Given the description of an element on the screen output the (x, y) to click on. 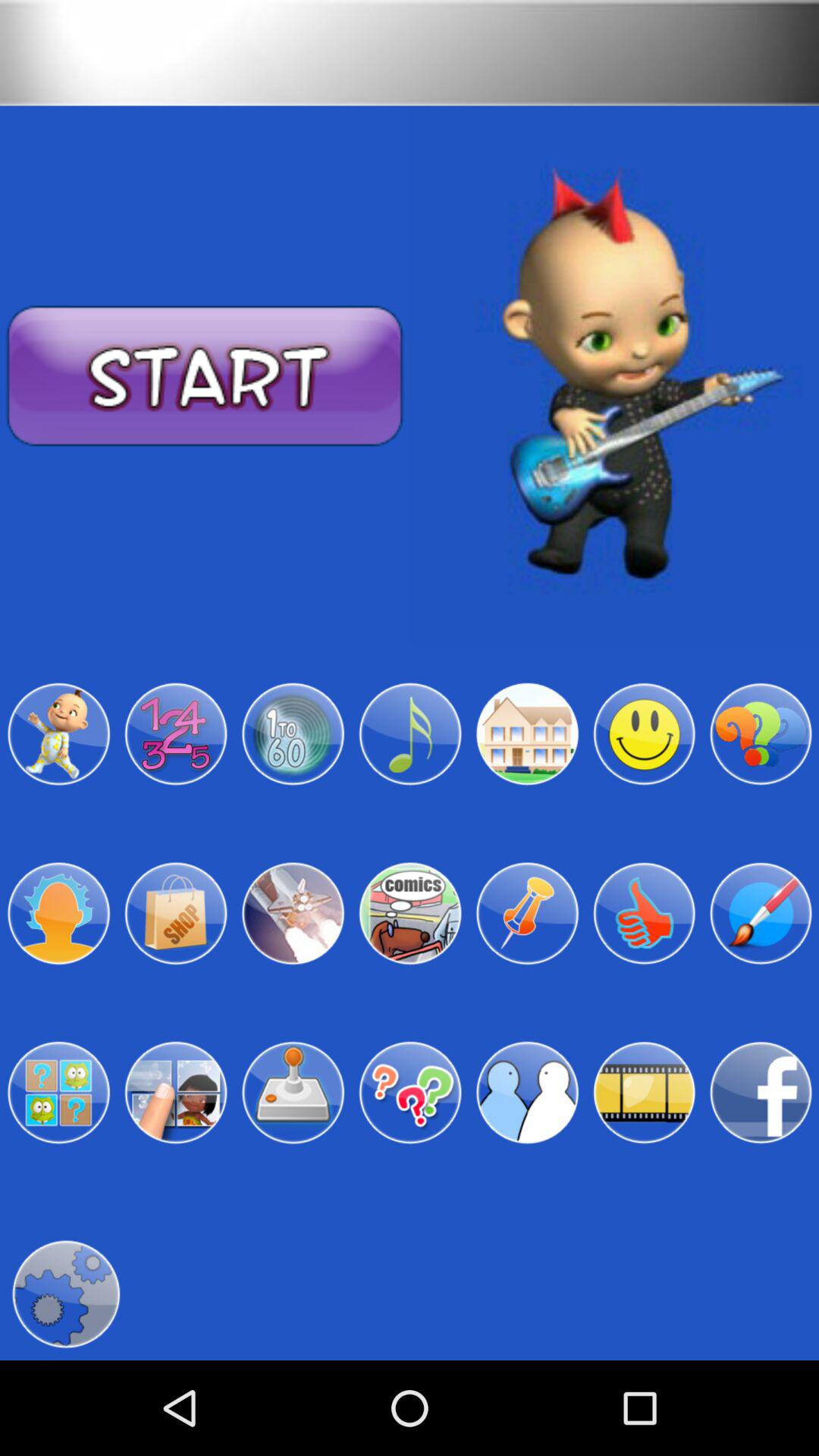
orange box flashing for selecting icon (292, 1092)
